Given the description of an element on the screen output the (x, y) to click on. 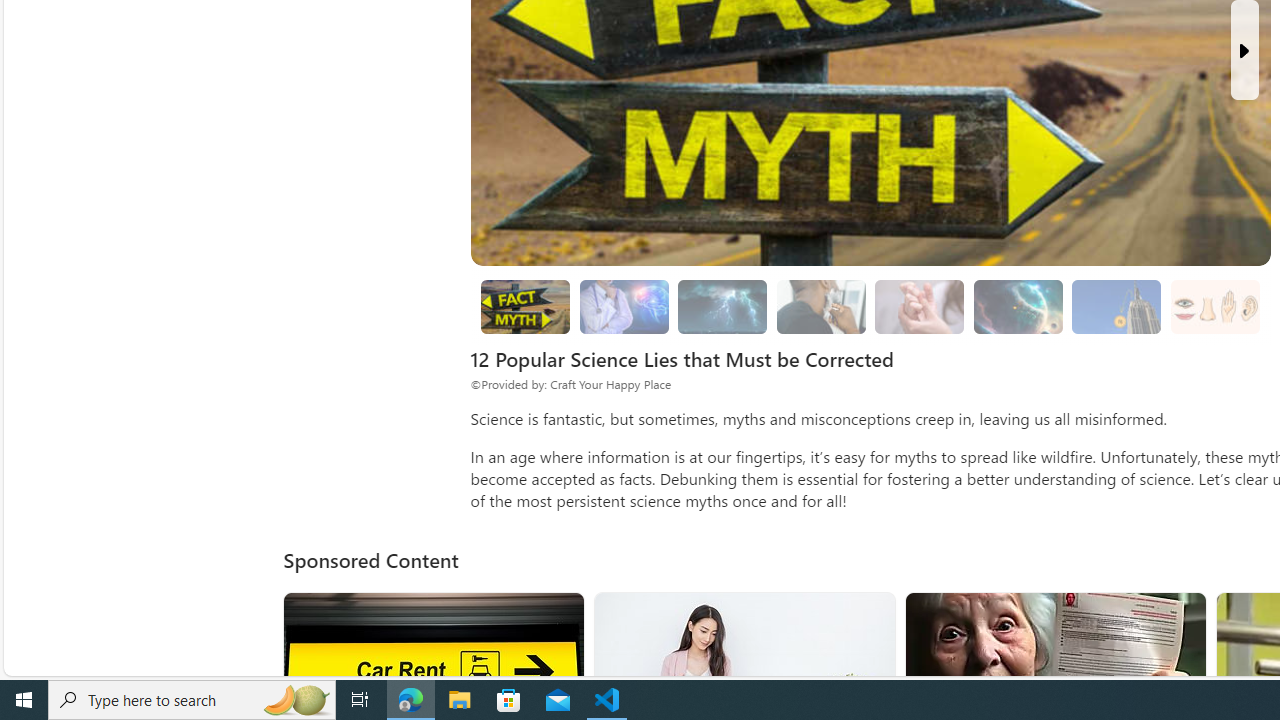
Knuckle Cracking and Arthritis (920, 307)
12 Popular Science Lies that Must be Corrected (525, 307)
Human Senses (1214, 307)
Next Slide (1244, 50)
Space Myths (1017, 307)
Knuckle Cracking and Arthritis (919, 306)
Class: progress (1214, 303)
Shaving and Hair Growth (820, 307)
Lightning Myths (722, 306)
Terminal Velocity of Falling Objects (1117, 307)
Shaving and Hair Growth (820, 306)
12 Popular Science Lies that Must be Corrected (525, 306)
Terminal Velocity of Falling Objects (1116, 306)
Space Myths (1017, 306)
